Given the description of an element on the screen output the (x, y) to click on. 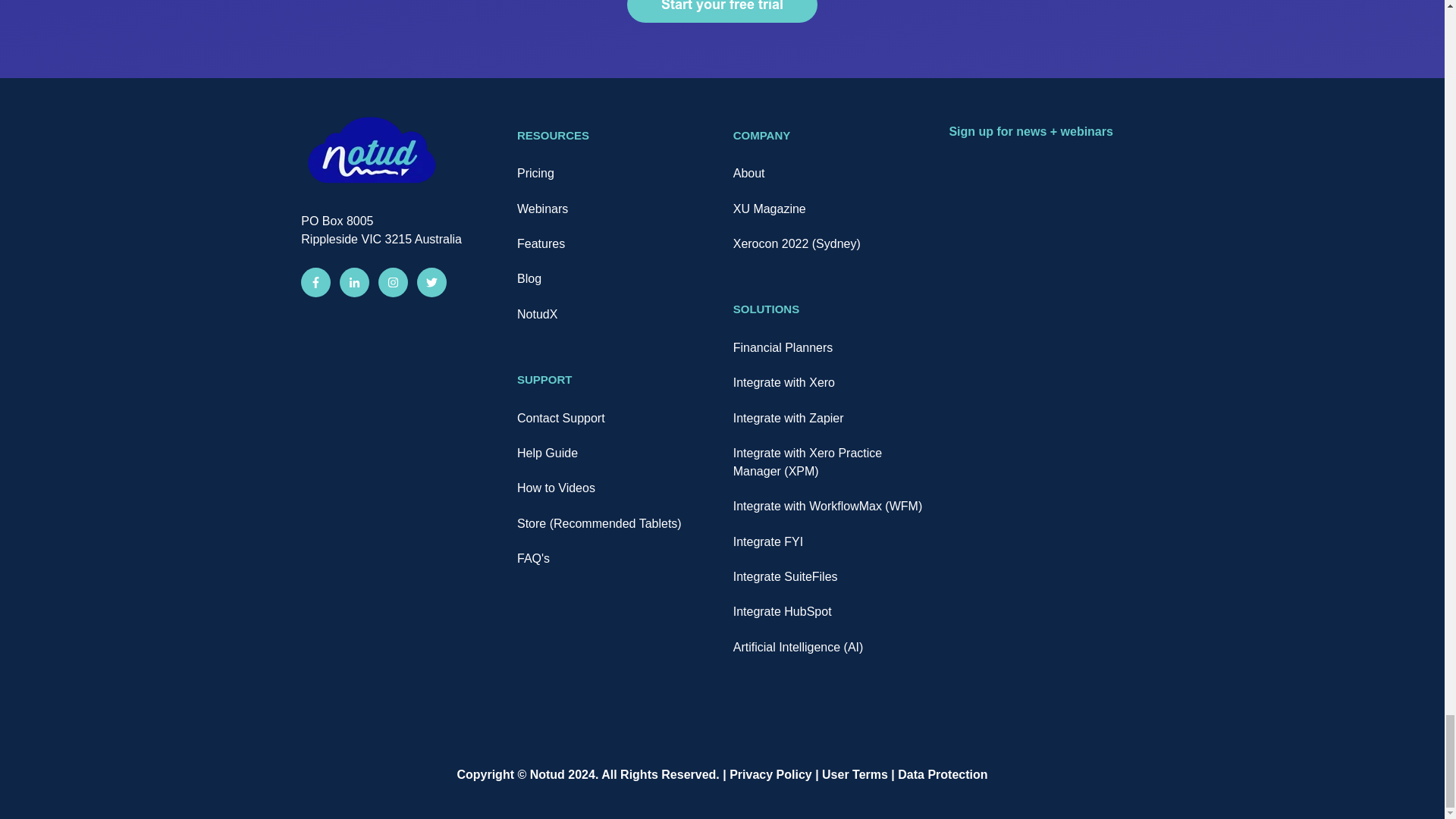
About (749, 173)
Webinars (541, 208)
How to Videos (555, 487)
Features (540, 243)
Contact Support (560, 418)
Pricing (535, 173)
Help Guide (547, 452)
FAQ's (533, 558)
XU Magazine (769, 208)
Blog (528, 278)
